Given the description of an element on the screen output the (x, y) to click on. 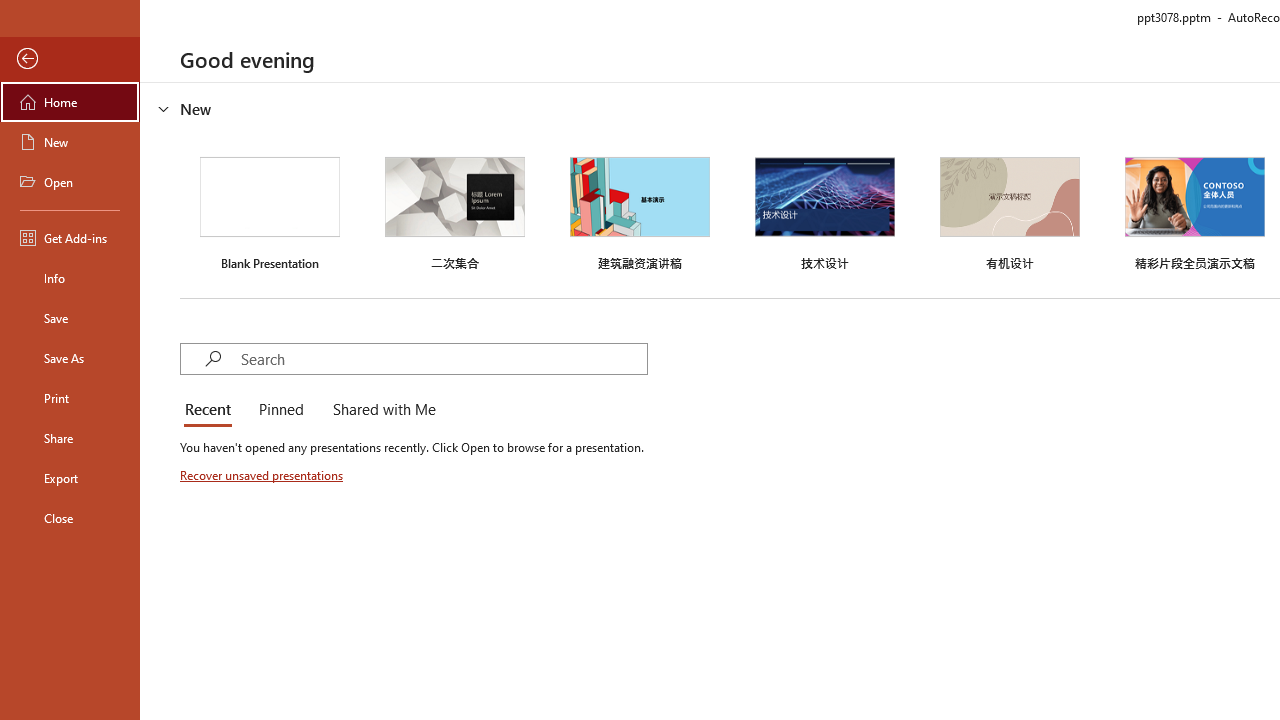
Print (69, 398)
Back (69, 59)
Pinned (280, 410)
New (69, 141)
Get Add-ins (69, 237)
Recover unsaved presentations (263, 475)
Recent (212, 410)
Save As (69, 357)
